Given the description of an element on the screen output the (x, y) to click on. 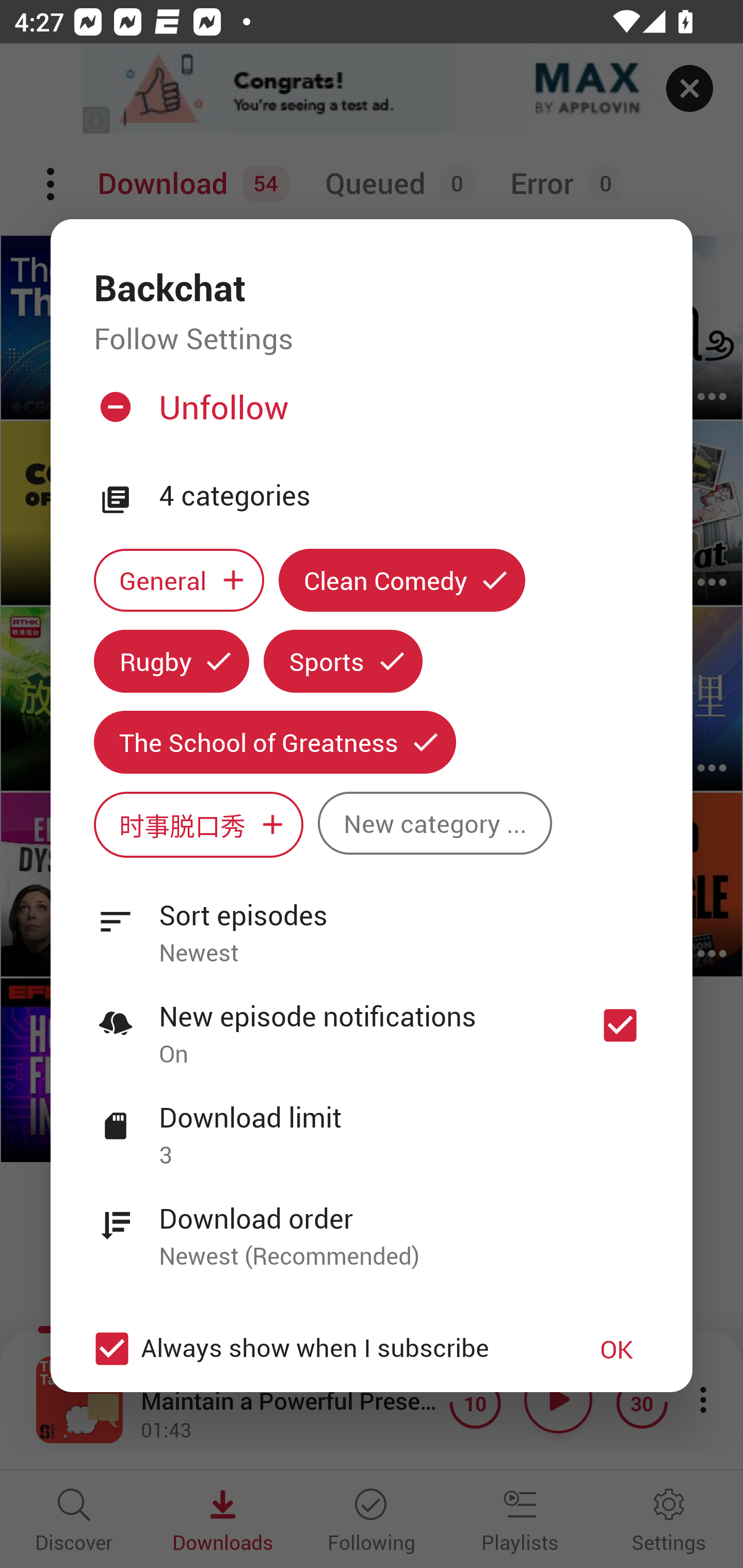
Unfollow (369, 415)
4 categories (404, 495)
General (178, 579)
Clean Comedy (401, 579)
Rugby (170, 661)
Sports (342, 661)
The School of Greatness (274, 741)
时事脱口秀 (198, 824)
New category ... (435, 822)
Sort episodes Newest (371, 922)
New episode notifications (620, 1025)
Download limit 3 (371, 1125)
Download order Newest (Recommended) (371, 1226)
OK (616, 1349)
Always show when I subscribe (320, 1349)
